Given the description of an element on the screen output the (x, y) to click on. 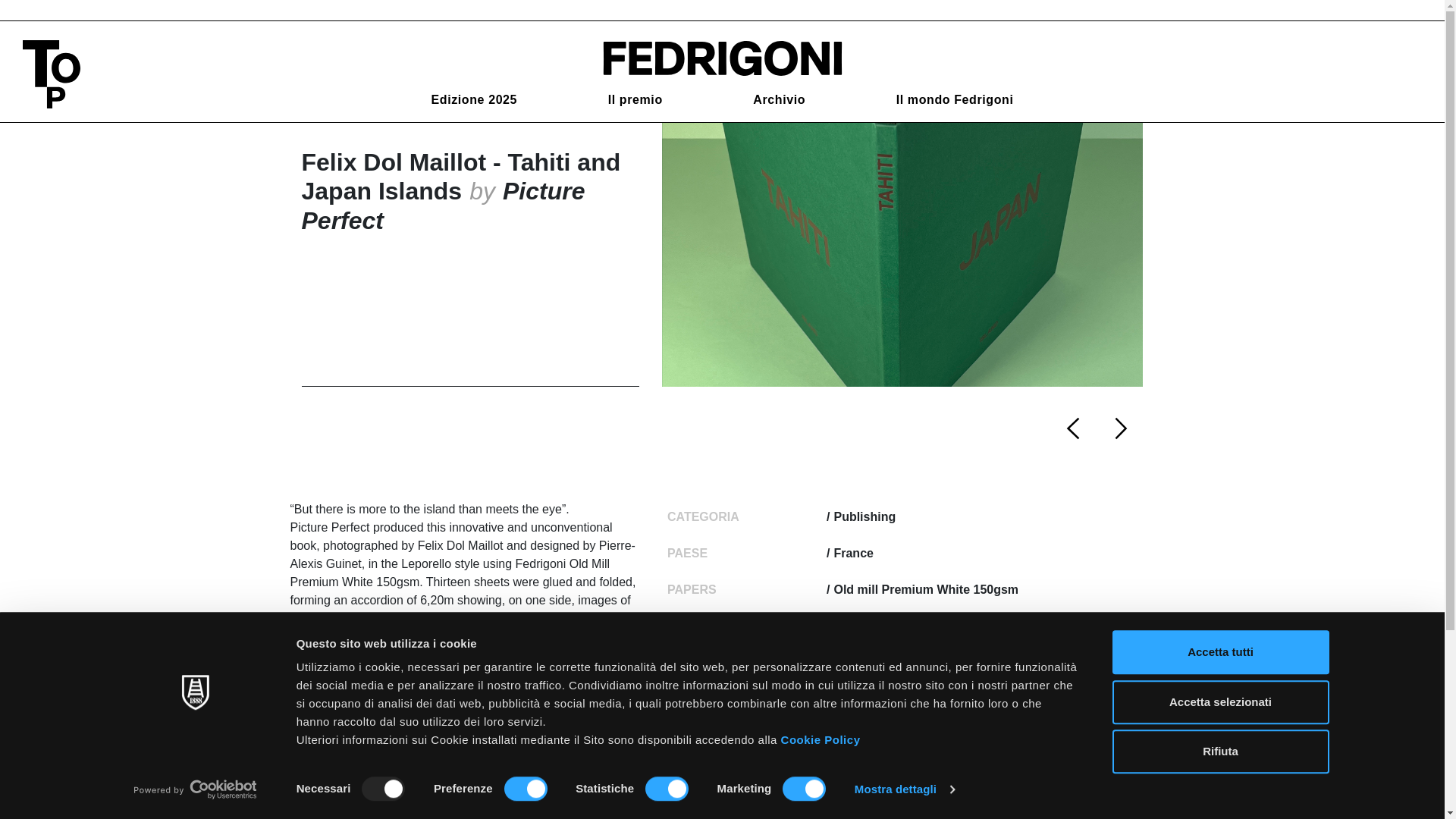
Mostra dettagli (904, 789)
Edizione 2025 (473, 99)
Cookie Policy (820, 739)
Accetta selezionati (1219, 701)
Rifiuta (1219, 751)
Fedrigoni Top Award (721, 56)
